Given the description of an element on the screen output the (x, y) to click on. 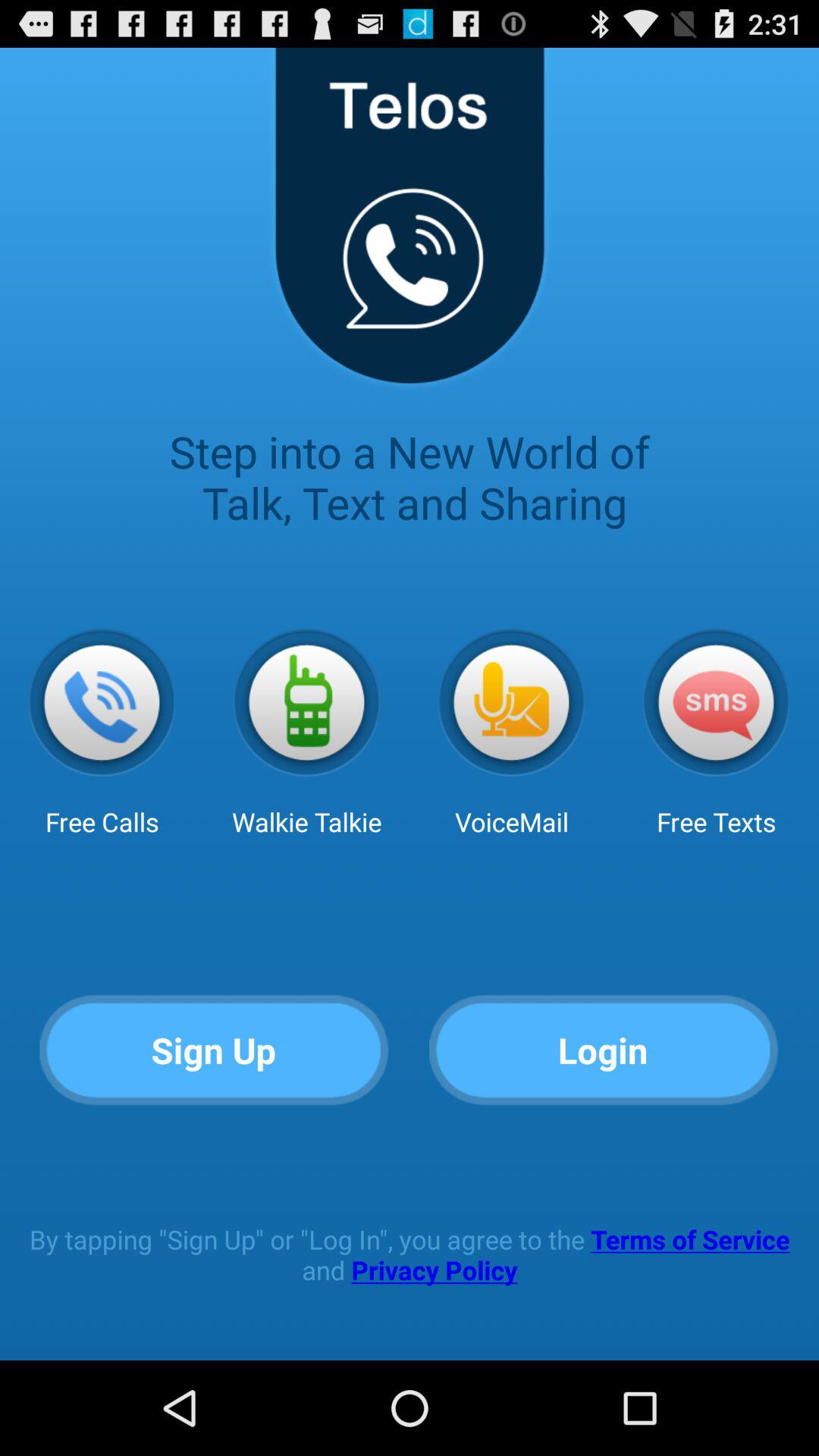
select the app above the by tapping sign app (604, 1050)
